Given the description of an element on the screen output the (x, y) to click on. 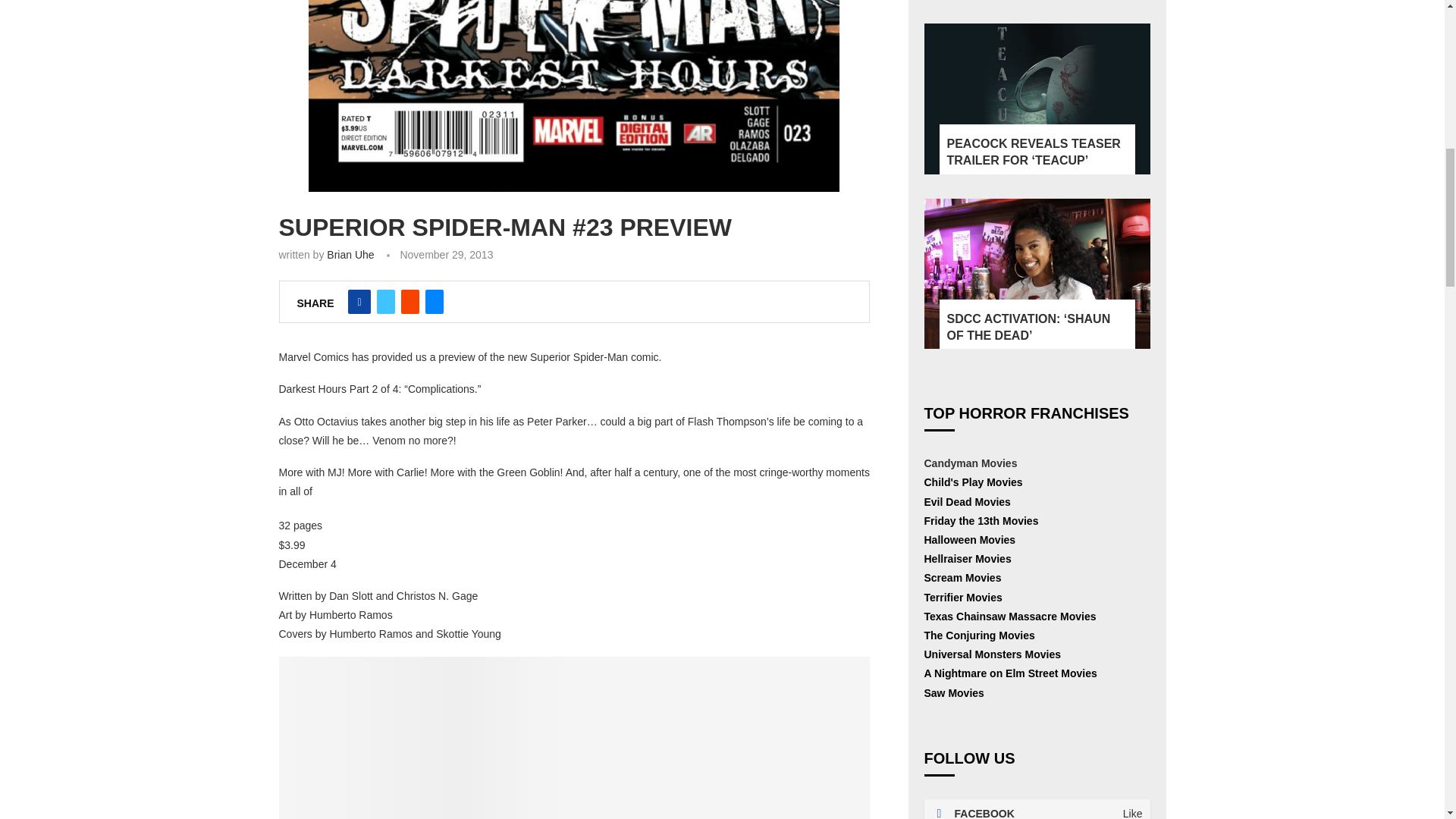
BEaswk6-superiorspiderman23a (574, 95)
